Given the description of an element on the screen output the (x, y) to click on. 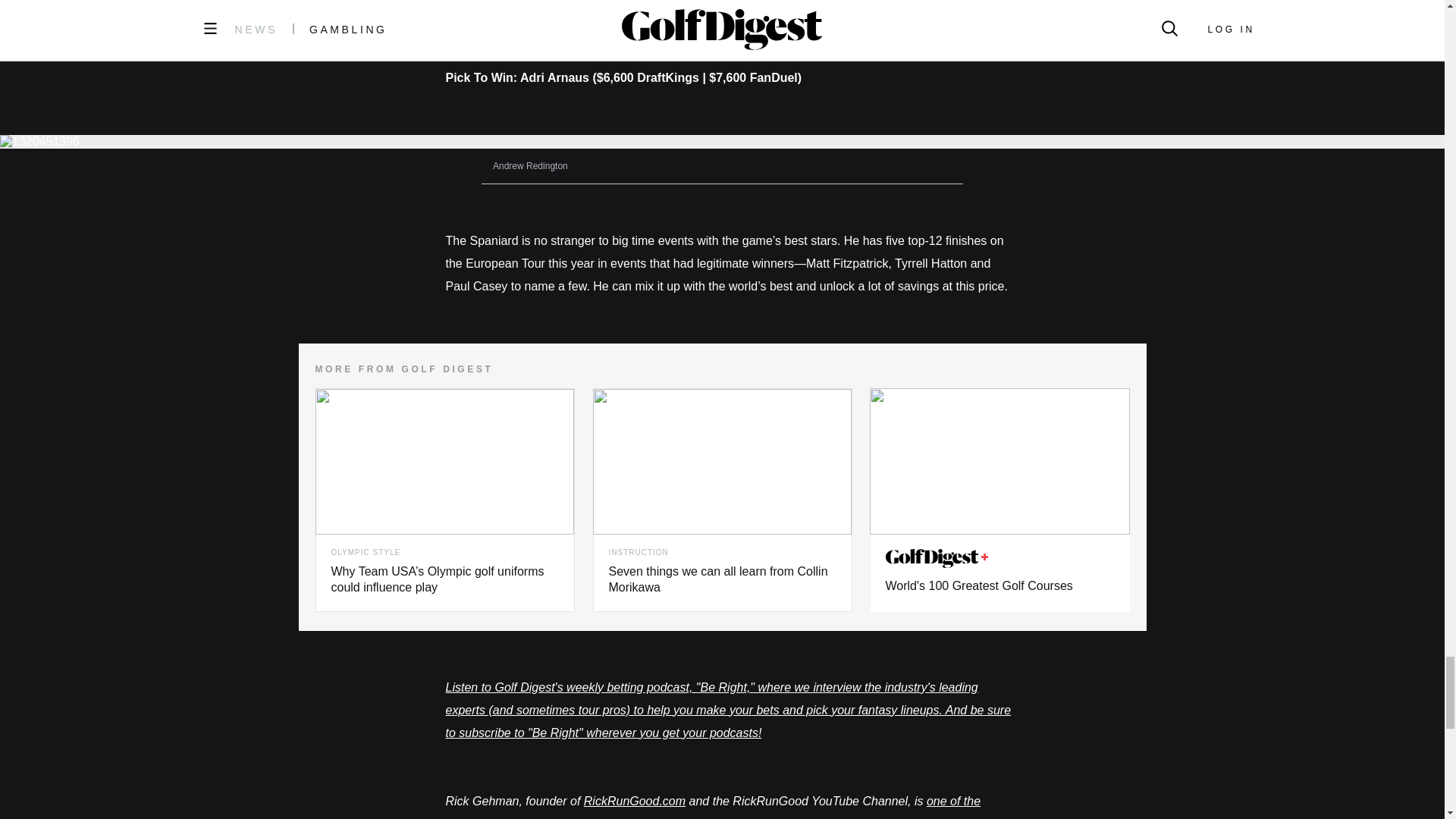
Golf Digest Logo (936, 558)
